Given the description of an element on the screen output the (x, y) to click on. 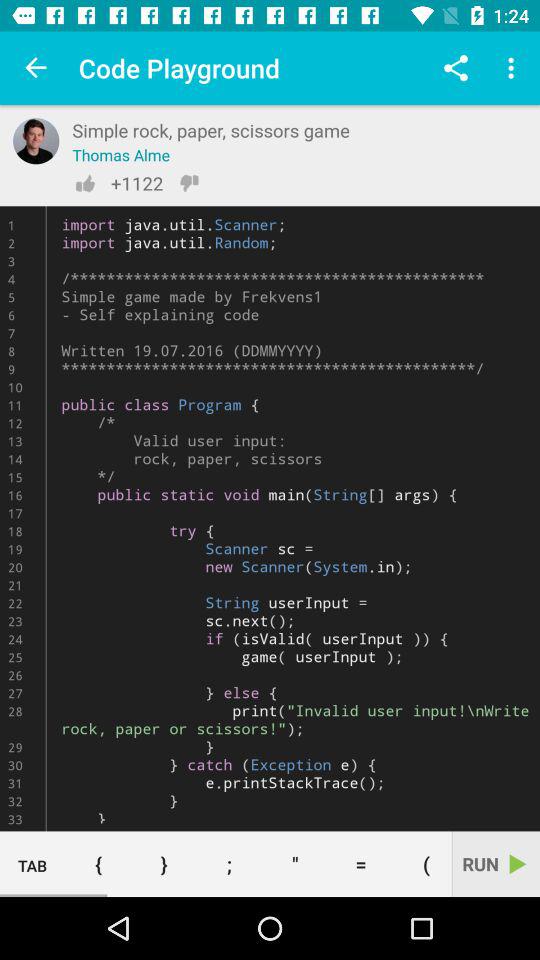
thumb down (189, 183)
